Given the description of an element on the screen output the (x, y) to click on. 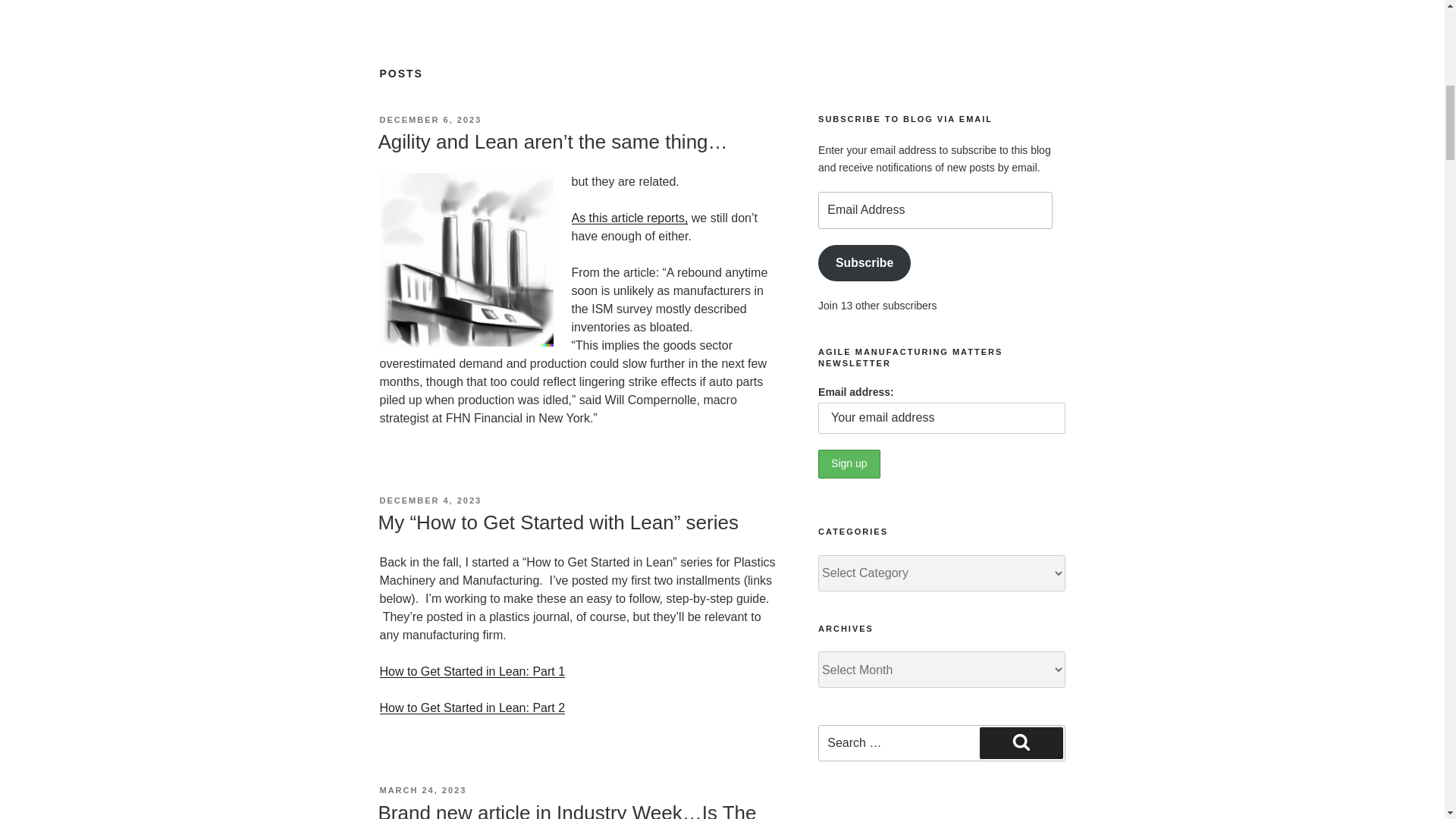
How to Get Started in Lean: Part 1 (471, 671)
As this article reports, (630, 217)
DECEMBER 4, 2023 (429, 500)
DECEMBER 6, 2023 (429, 119)
How to Get Started in Lean: Part 2 (471, 707)
MARCH 24, 2023 (421, 789)
Sign up (848, 463)
